Given the description of an element on the screen output the (x, y) to click on. 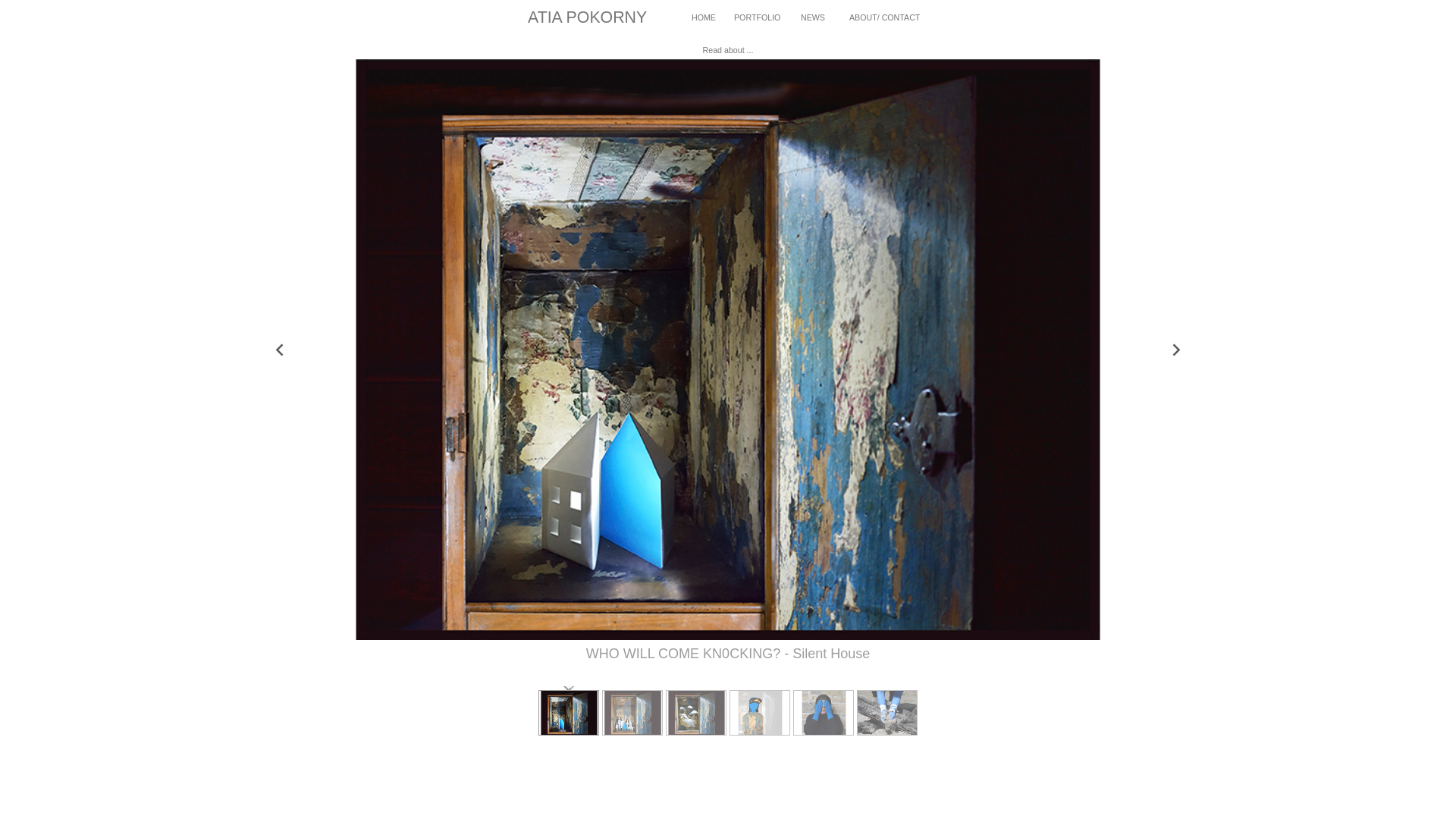
NEWS Element type: text (812, 16)
PORTFOLIO Element type: text (757, 16)
Read about ... Element type: text (727, 49)
ABOUT/ CONTACT Element type: text (884, 16)
HOME Element type: text (703, 16)
